Given the description of an element on the screen output the (x, y) to click on. 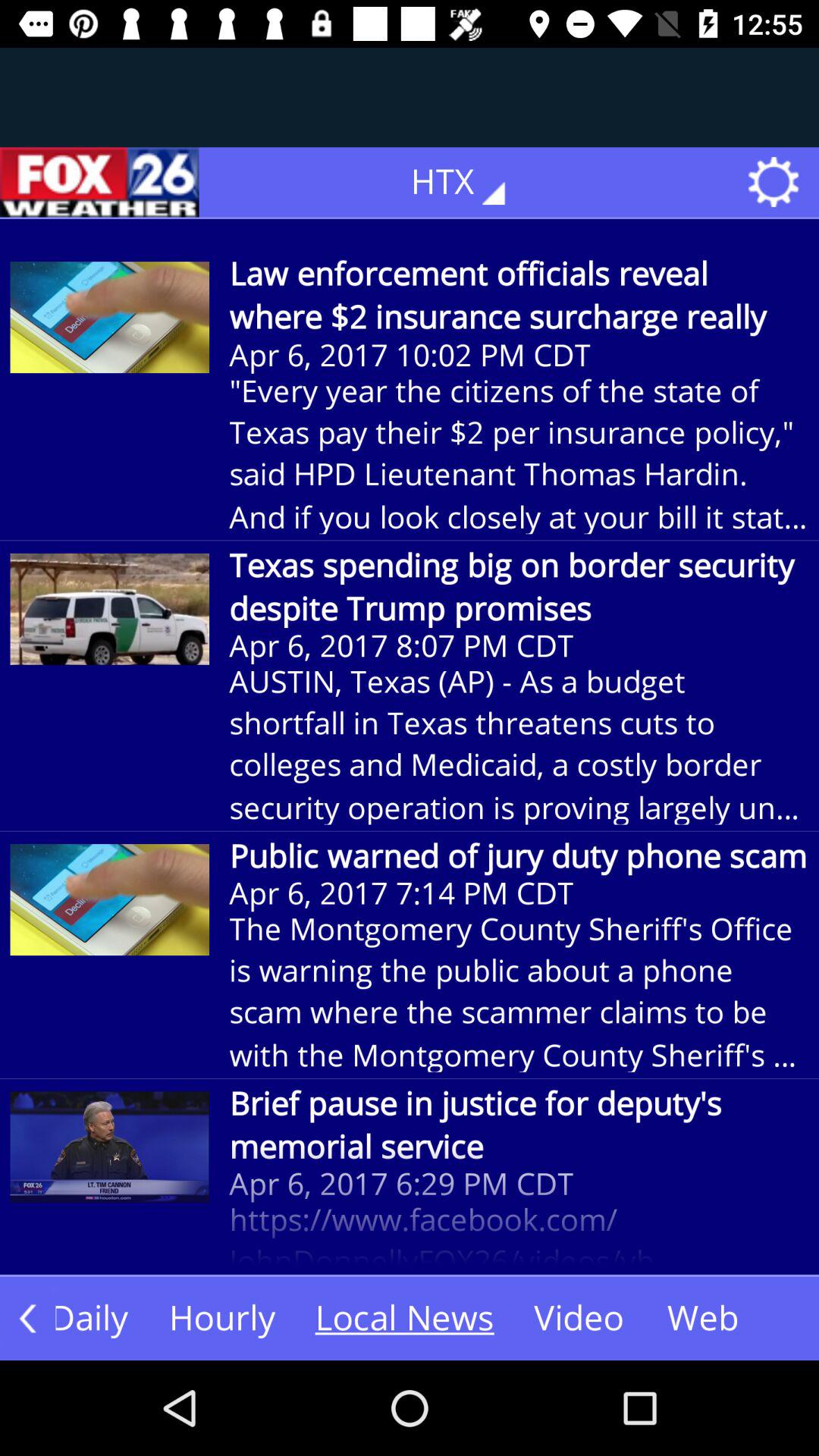
go to local news (404, 1318)
select the first image from the bottom of the page (109, 1146)
click on second text which is from bottom left (221, 1318)
select the settings icon whichis on the top right corner of the page (778, 181)
select the text which is to the immediate left of settings symbol (468, 181)
